Given the description of an element on the screen output the (x, y) to click on. 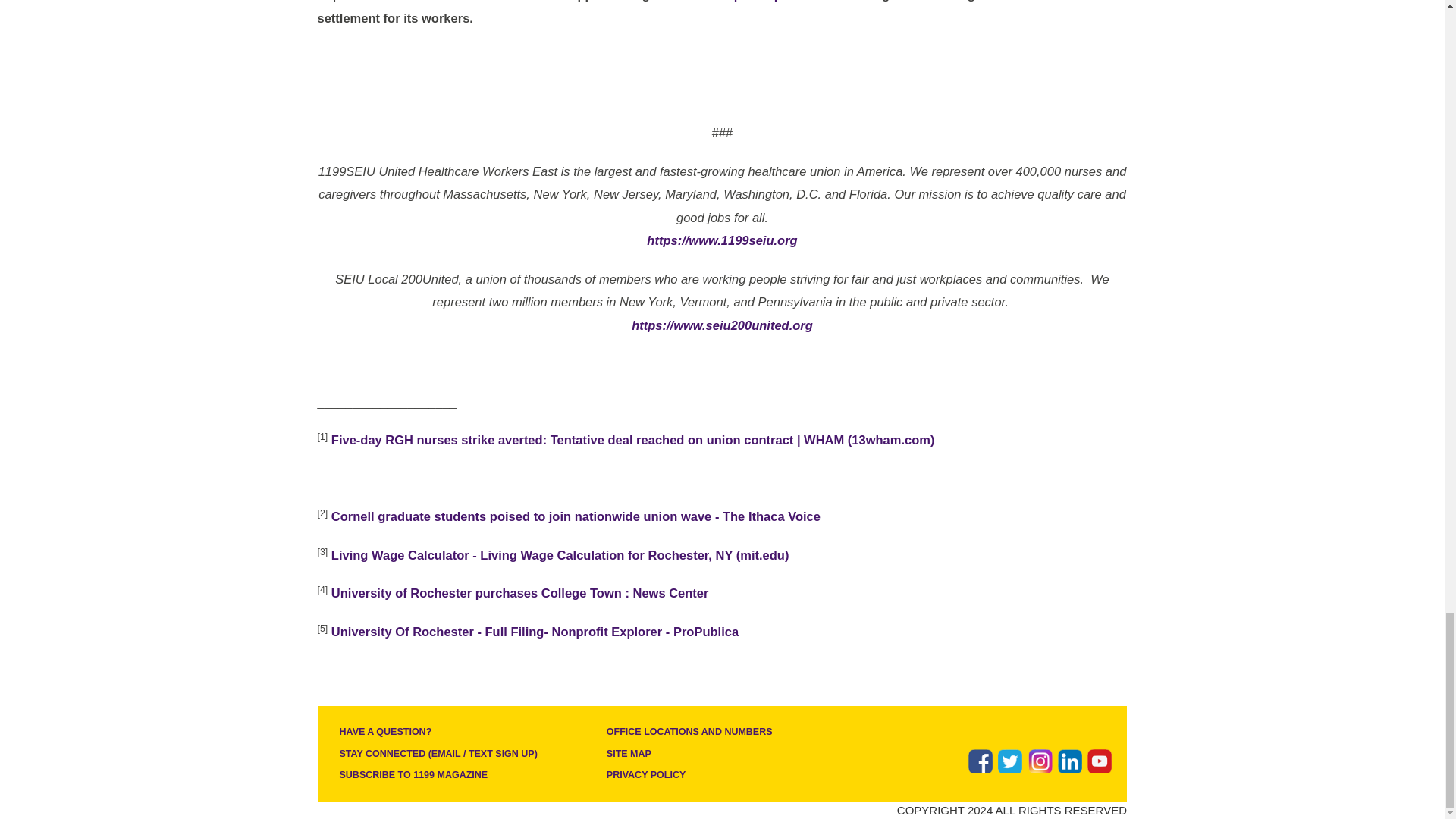
University of Rochester purchases College Town : News Center (520, 592)
online public petition (756, 0)
